Given the description of an element on the screen output the (x, y) to click on. 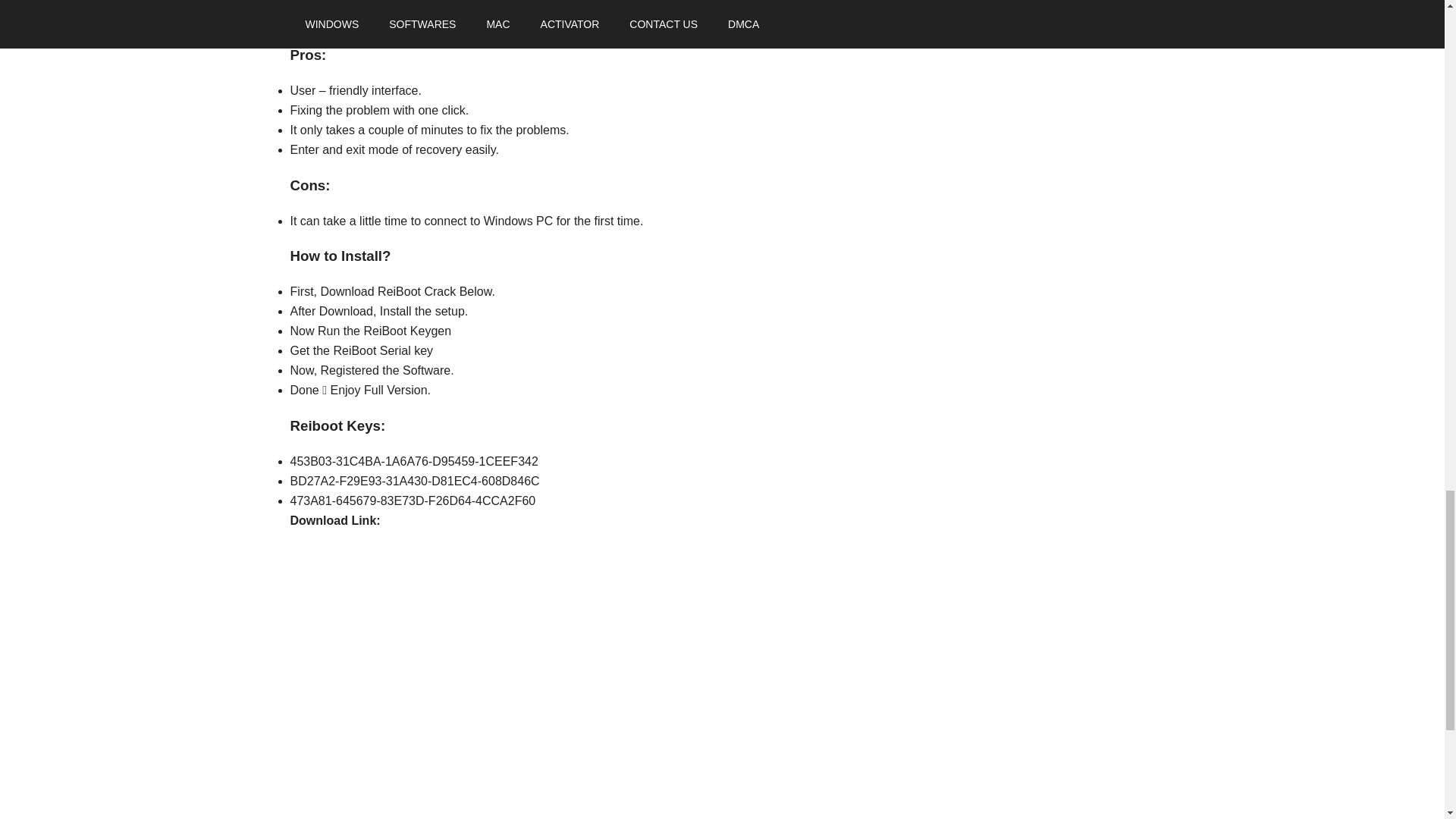
Download Link: (334, 520)
